Given the description of an element on the screen output the (x, y) to click on. 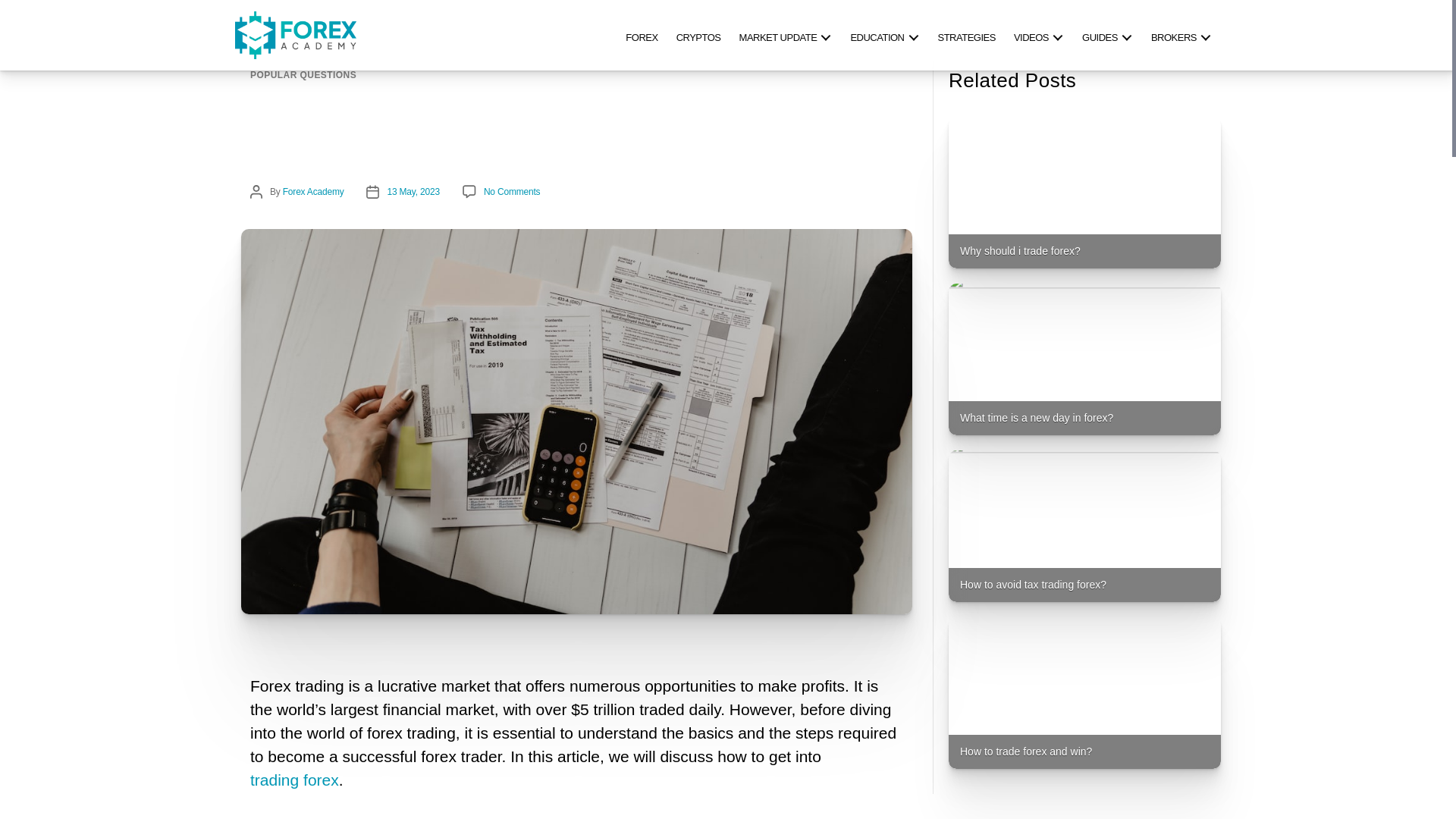
trading forex (294, 780)
Why should i trade forex? (1085, 192)
STRATEGIES (966, 35)
VIDEOS (1038, 35)
How to trade forex and win? (1085, 693)
How to avoid tax trading forex? (1085, 525)
GUIDES (1107, 35)
CRYPTOS (698, 35)
MARKET UPDATE (785, 35)
What time is a new day in forex? (1085, 358)
